Given the description of an element on the screen output the (x, y) to click on. 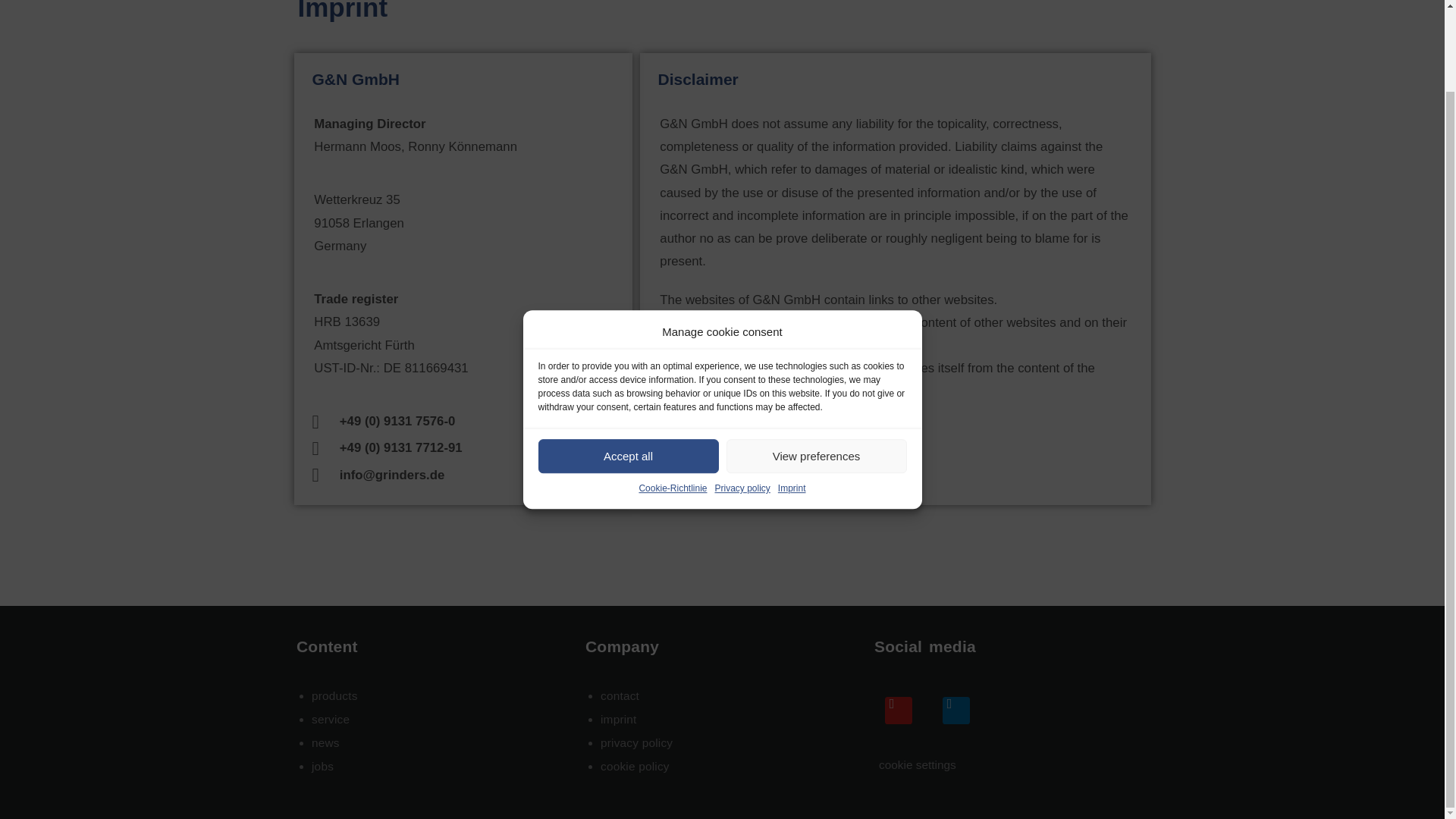
Imprint (791, 397)
Privacy policy (742, 397)
Cookie-Richtlinie (672, 397)
Accept all (628, 364)
View preferences (816, 364)
